Given the description of an element on the screen output the (x, y) to click on. 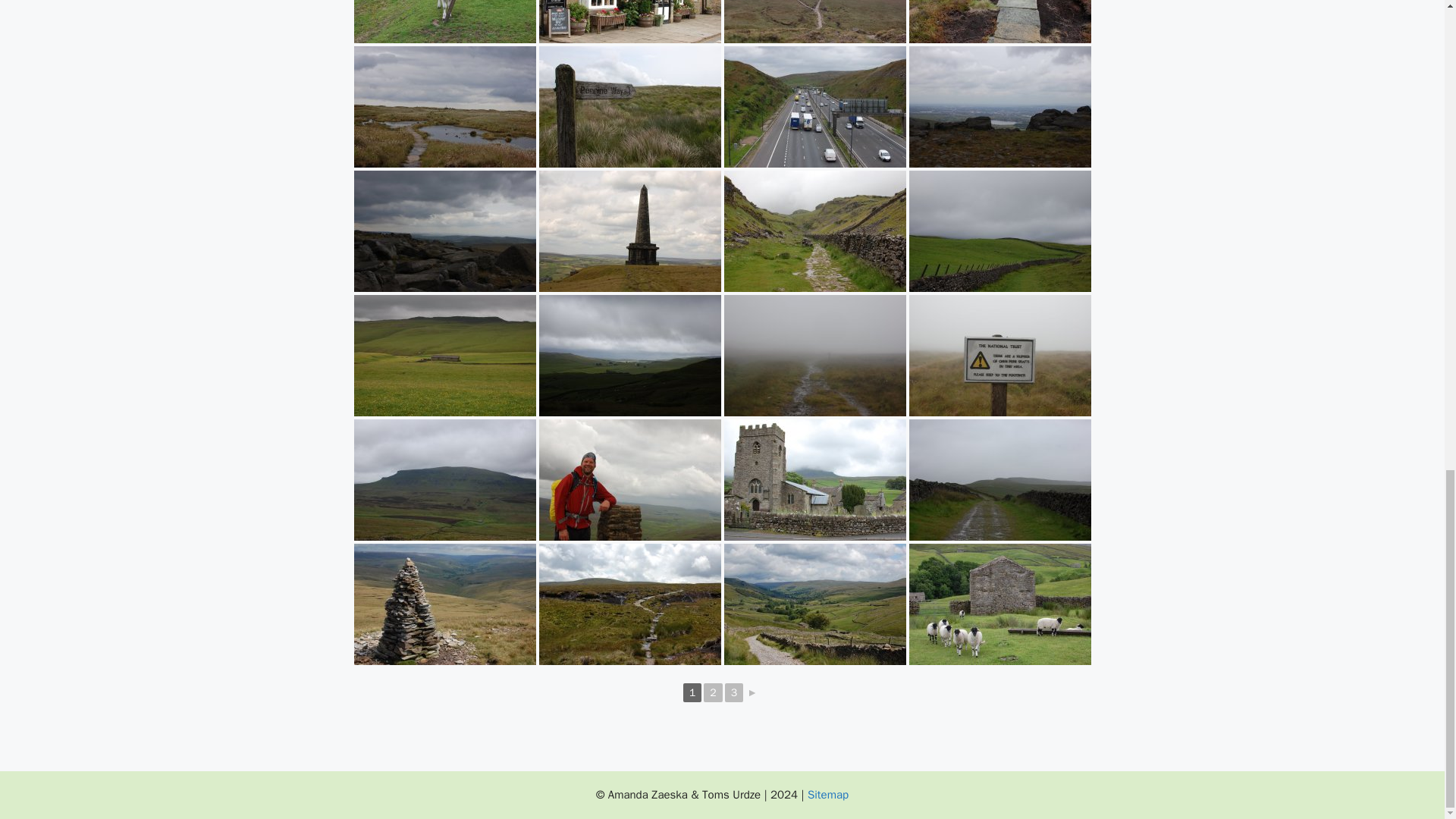
pennineway0008 (444, 21)
pennineway0015 (814, 21)
pennineway0009 (629, 21)
pennineway0018 (999, 21)
pennineway0026 (444, 106)
